Given the description of an element on the screen output the (x, y) to click on. 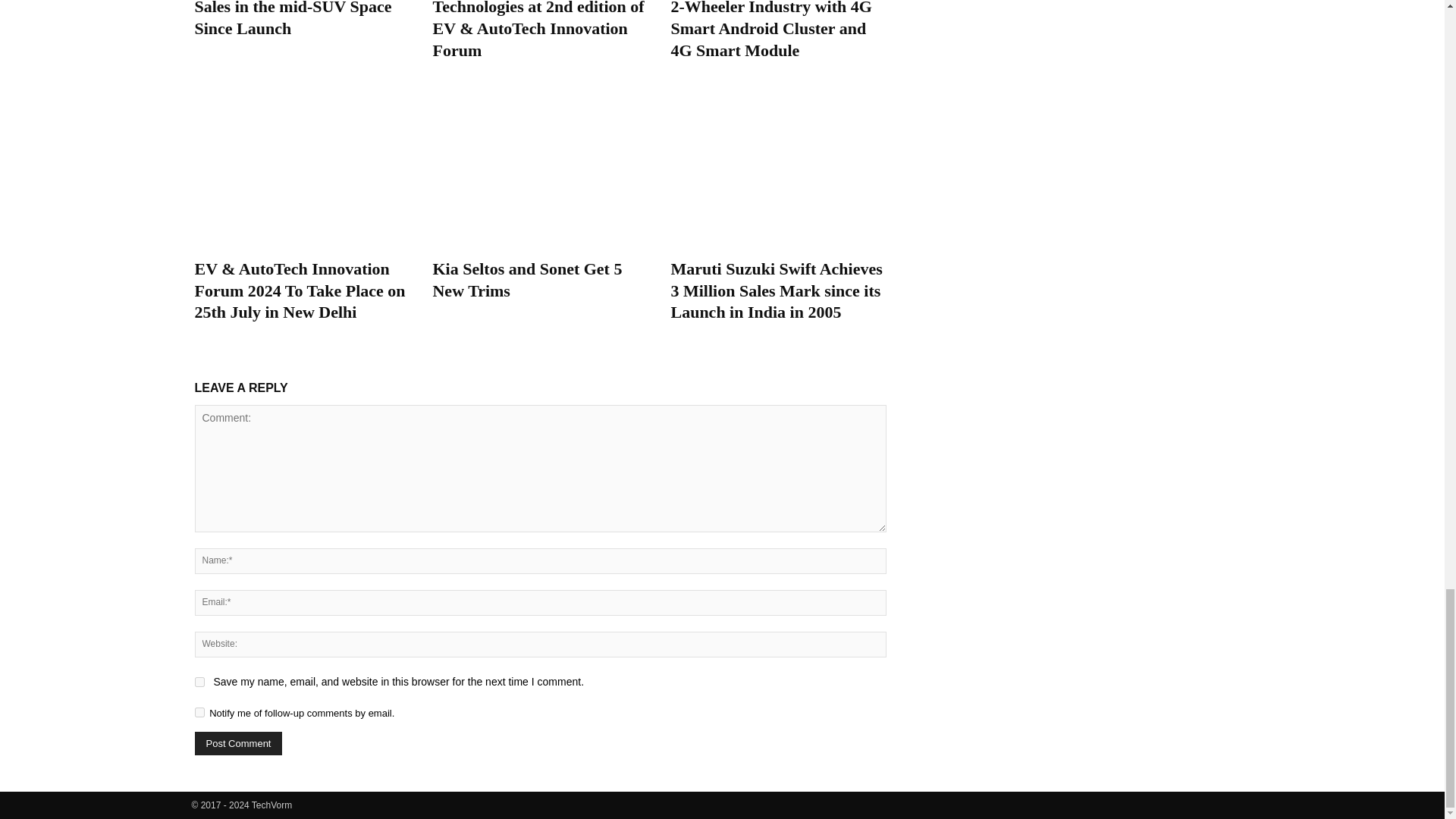
yes (198, 682)
subscribe (198, 712)
Post Comment (237, 743)
